Given the description of an element on the screen output the (x, y) to click on. 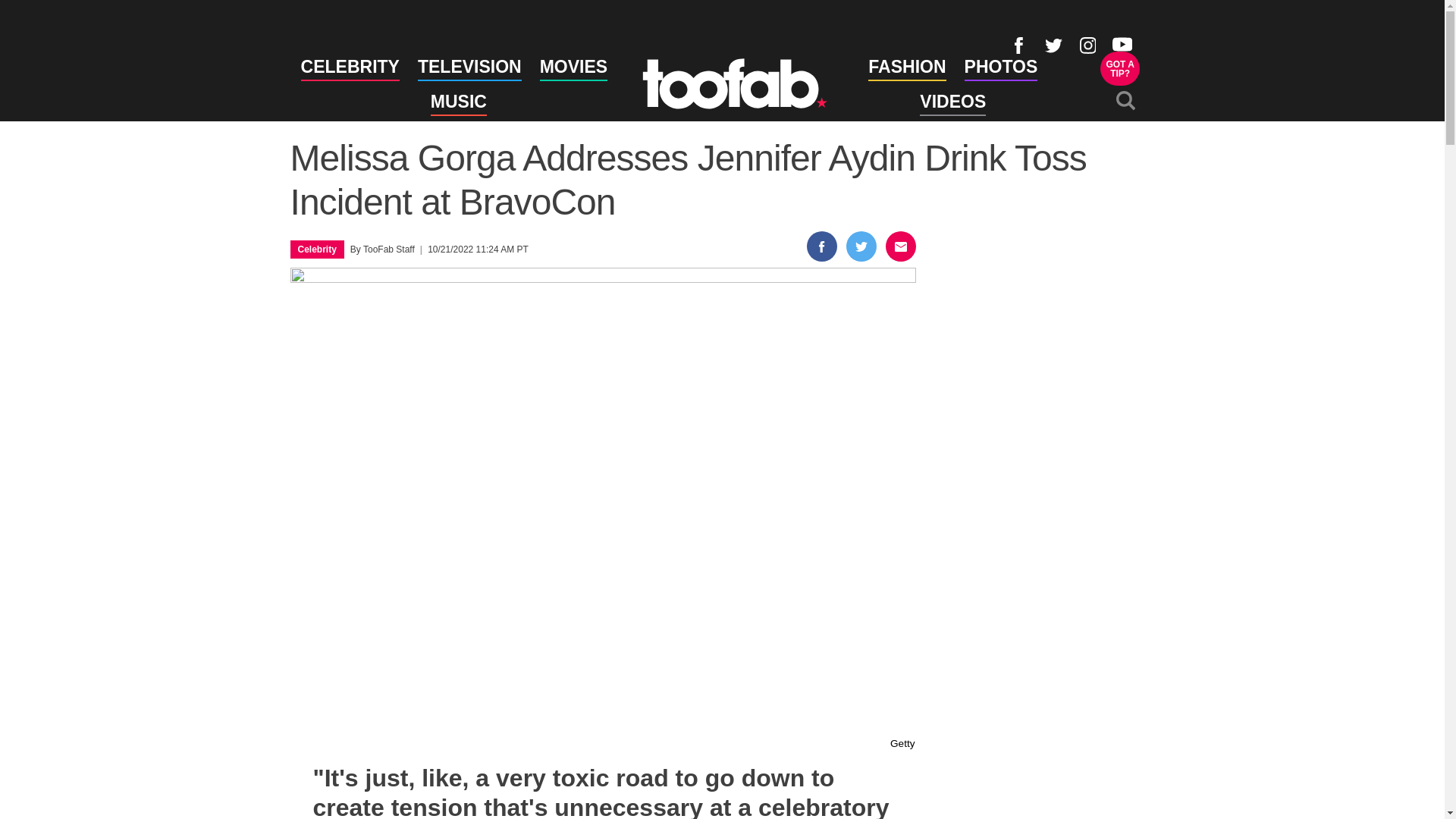
PHOTOS (1000, 69)
MOVIES (573, 69)
CELEBRITY (349, 69)
MUSIC (458, 104)
VIDEOS (952, 104)
Celebrity (316, 249)
TELEVISION (1120, 68)
FASHION (469, 69)
toofab (905, 69)
